Given the description of an element on the screen output the (x, y) to click on. 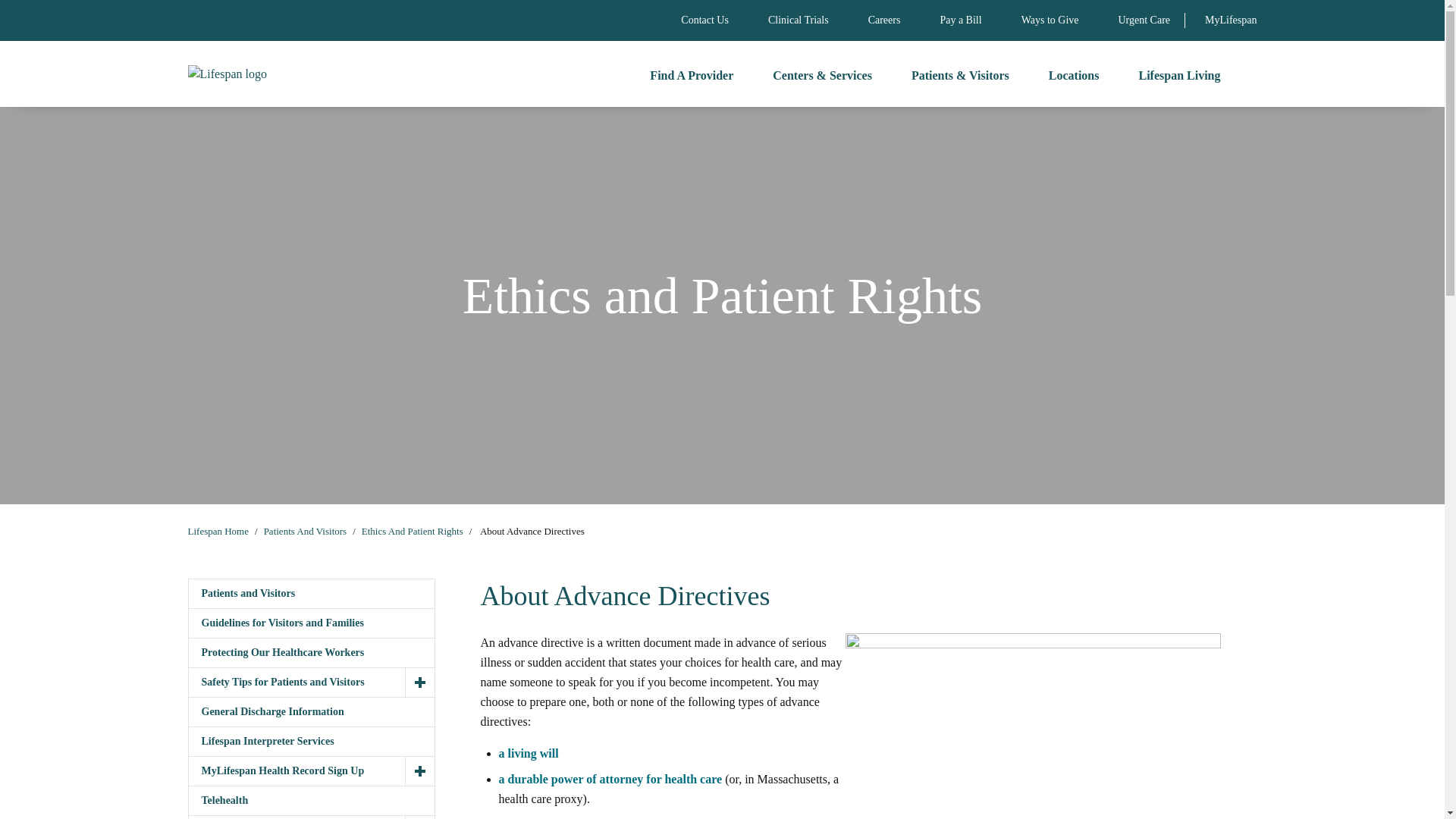
Living Will: Rhode Island's Rights of the Terminally Ill Act (529, 752)
Ways to Give (1050, 20)
Contact Us (705, 20)
Clinical Trials (798, 20)
Urgent Care (1144, 20)
Pay a bill online (960, 20)
Pay a Bill (960, 20)
MyLifespan (1230, 20)
Durable Power of Attorney for Health Care (610, 778)
